Given the description of an element on the screen output the (x, y) to click on. 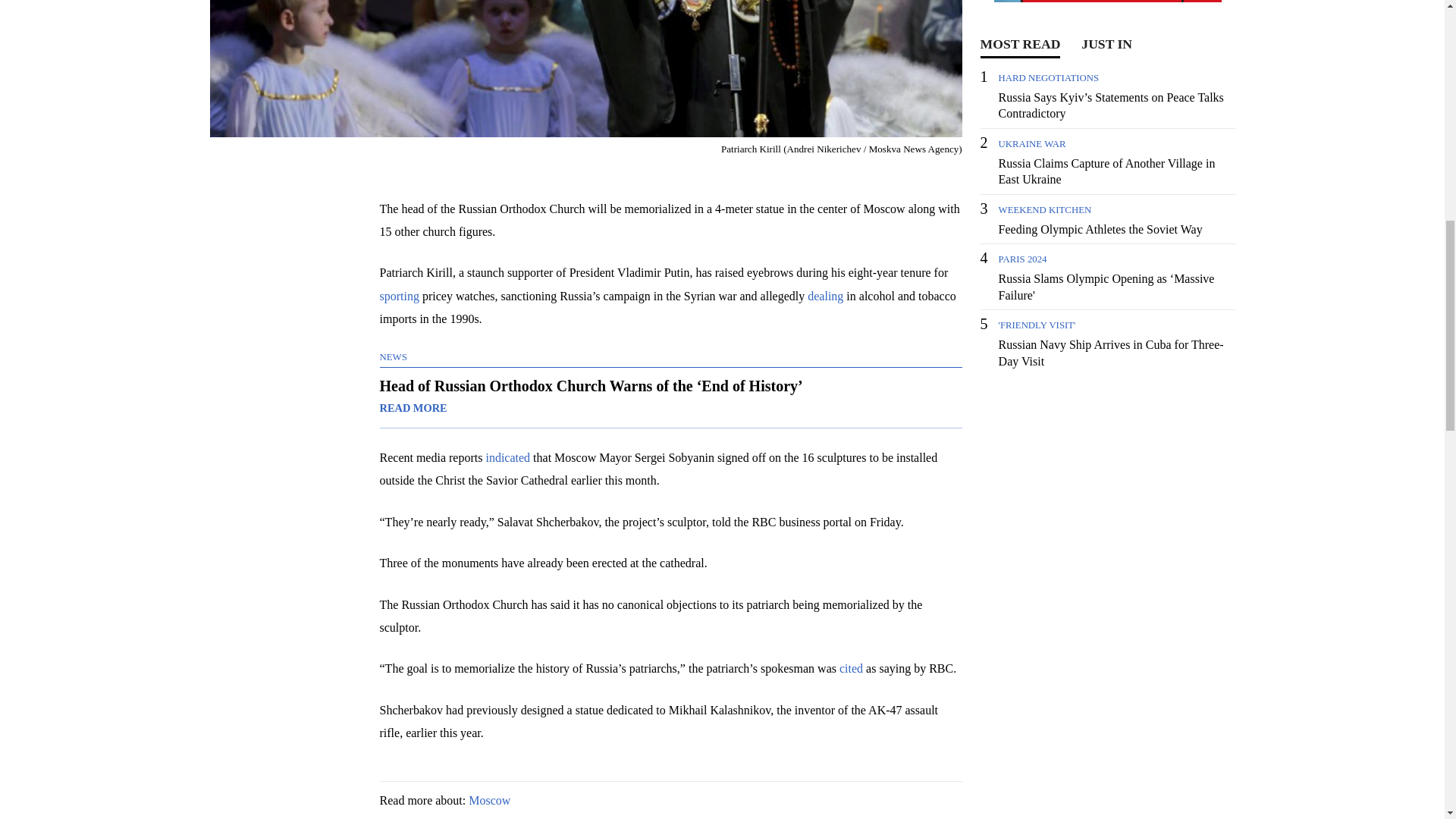
Moscow (489, 799)
